Given the description of an element on the screen output the (x, y) to click on. 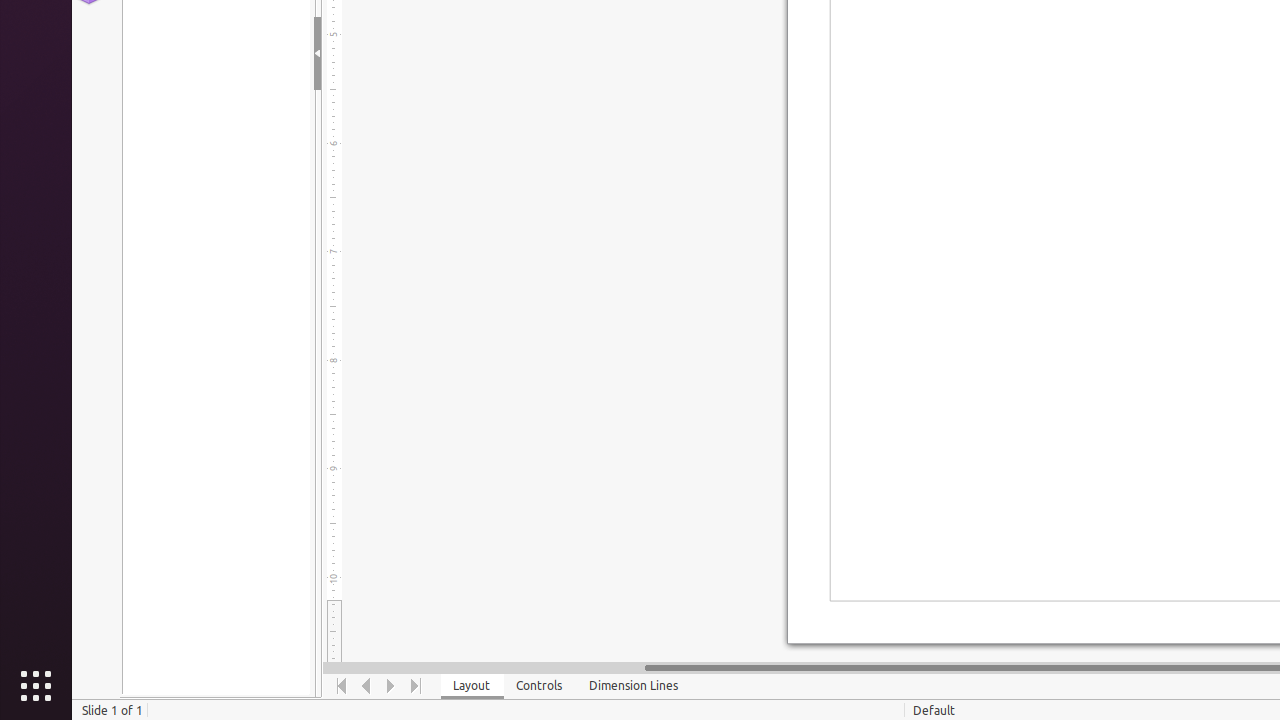
Show Applications Element type: toggle-button (36, 686)
Layout Element type: page-tab (472, 686)
Dimension Lines Element type: page-tab (634, 686)
